Given the description of an element on the screen output the (x, y) to click on. 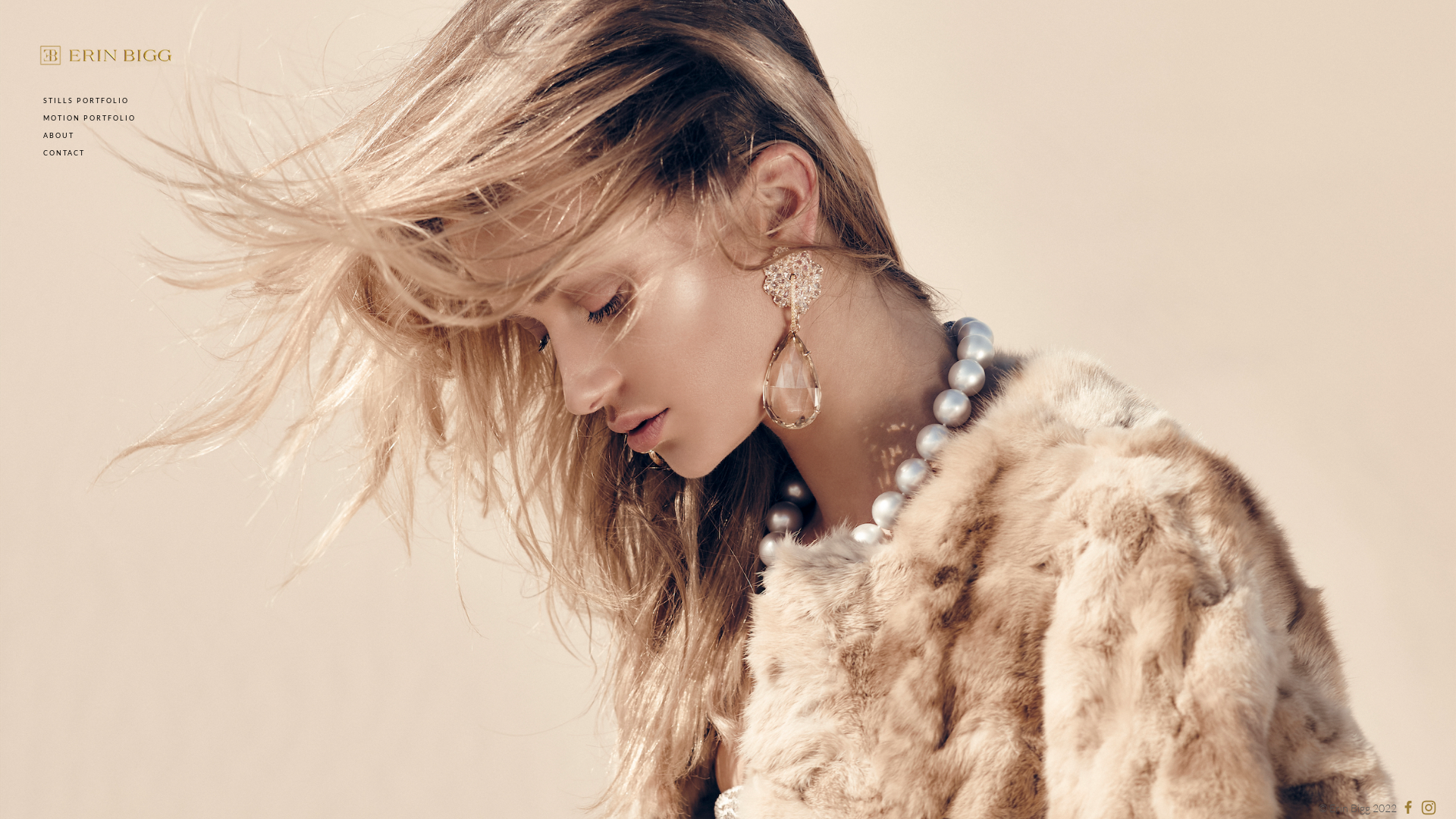
MOTION PORTFOLIO Element type: text (89, 117)
ABOUT Element type: text (58, 135)
STILLS PORTFOLIO Element type: text (85, 100)
CONTACT Element type: text (63, 152)
